Given the description of an element on the screen output the (x, y) to click on. 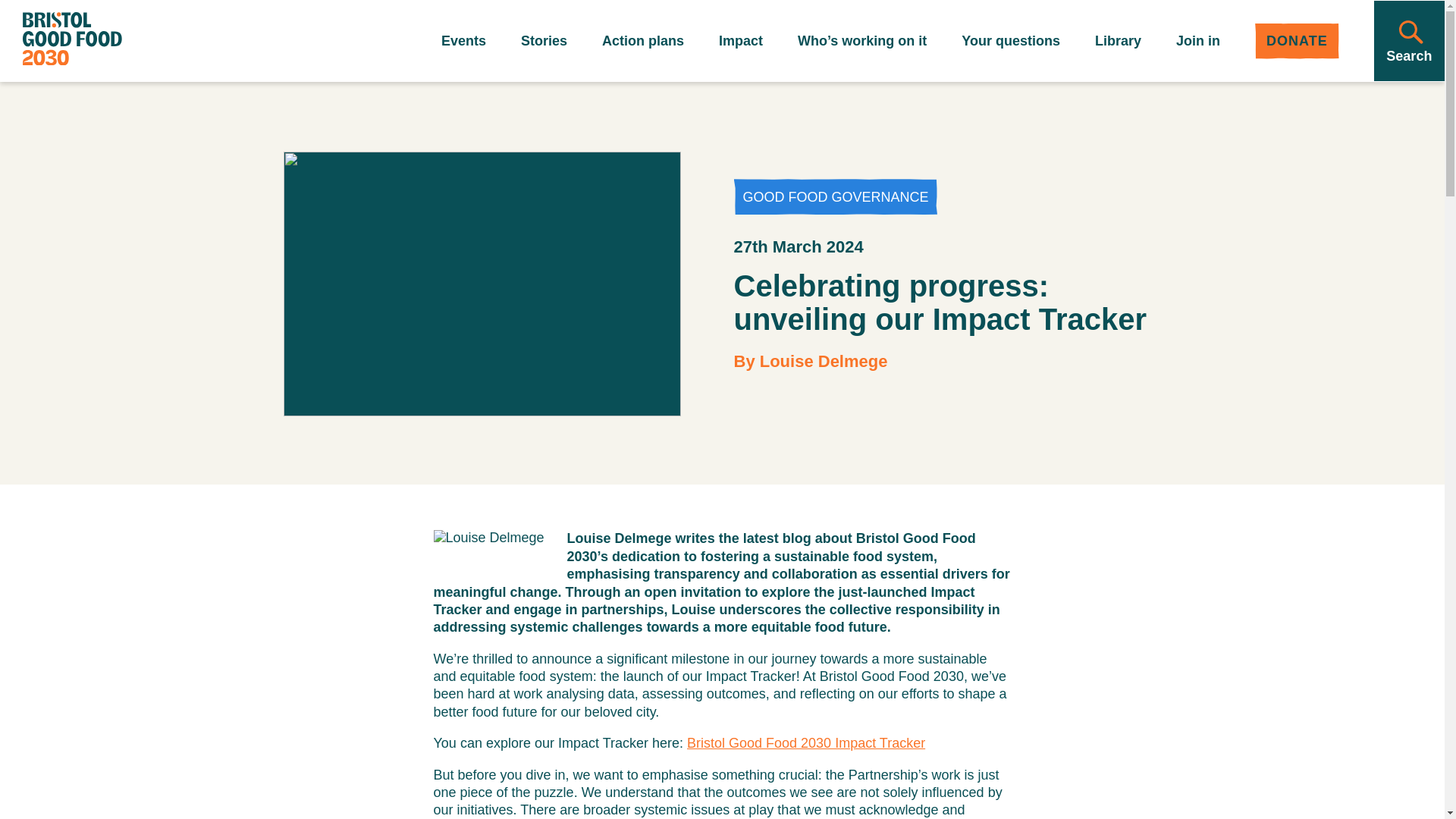
Stories (544, 40)
DONATE (1297, 40)
Impact (740, 40)
Events (463, 40)
Library (1117, 40)
Bristol Good Food 2030 Impact Tracker (805, 743)
Action plans (643, 40)
Go to homepage (72, 40)
Your questions (1009, 40)
Join in (1198, 40)
